Given the description of an element on the screen output the (x, y) to click on. 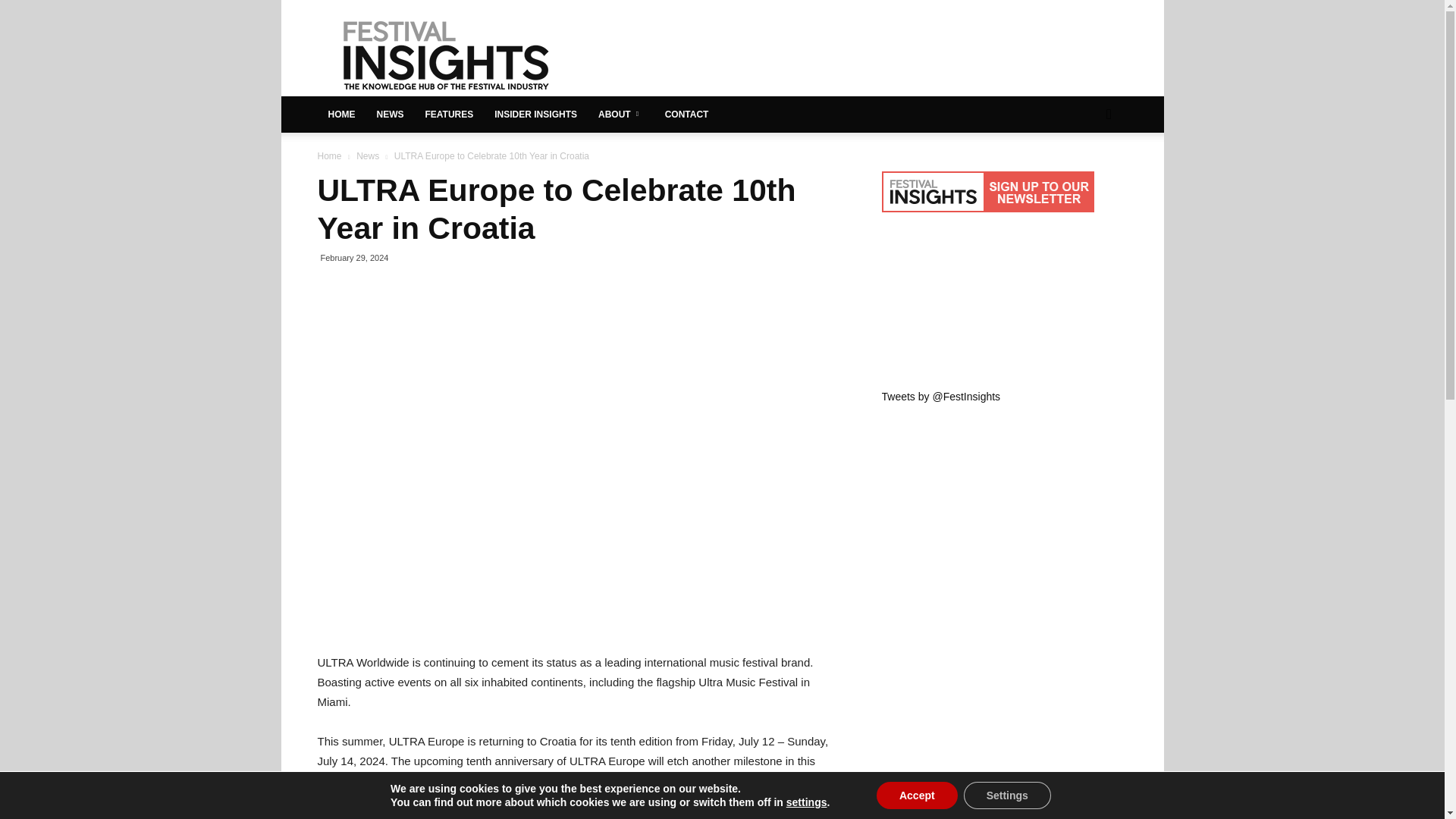
The Knowledge Hub of the Festival Industry (445, 55)
INSIDER INSIGHTS (535, 114)
View all posts in News (367, 155)
ABOUT (620, 114)
NEWS (389, 114)
FEATURES (448, 114)
News (367, 155)
CONTACT (686, 114)
HOME (341, 114)
Home (328, 155)
